Given the description of an element on the screen output the (x, y) to click on. 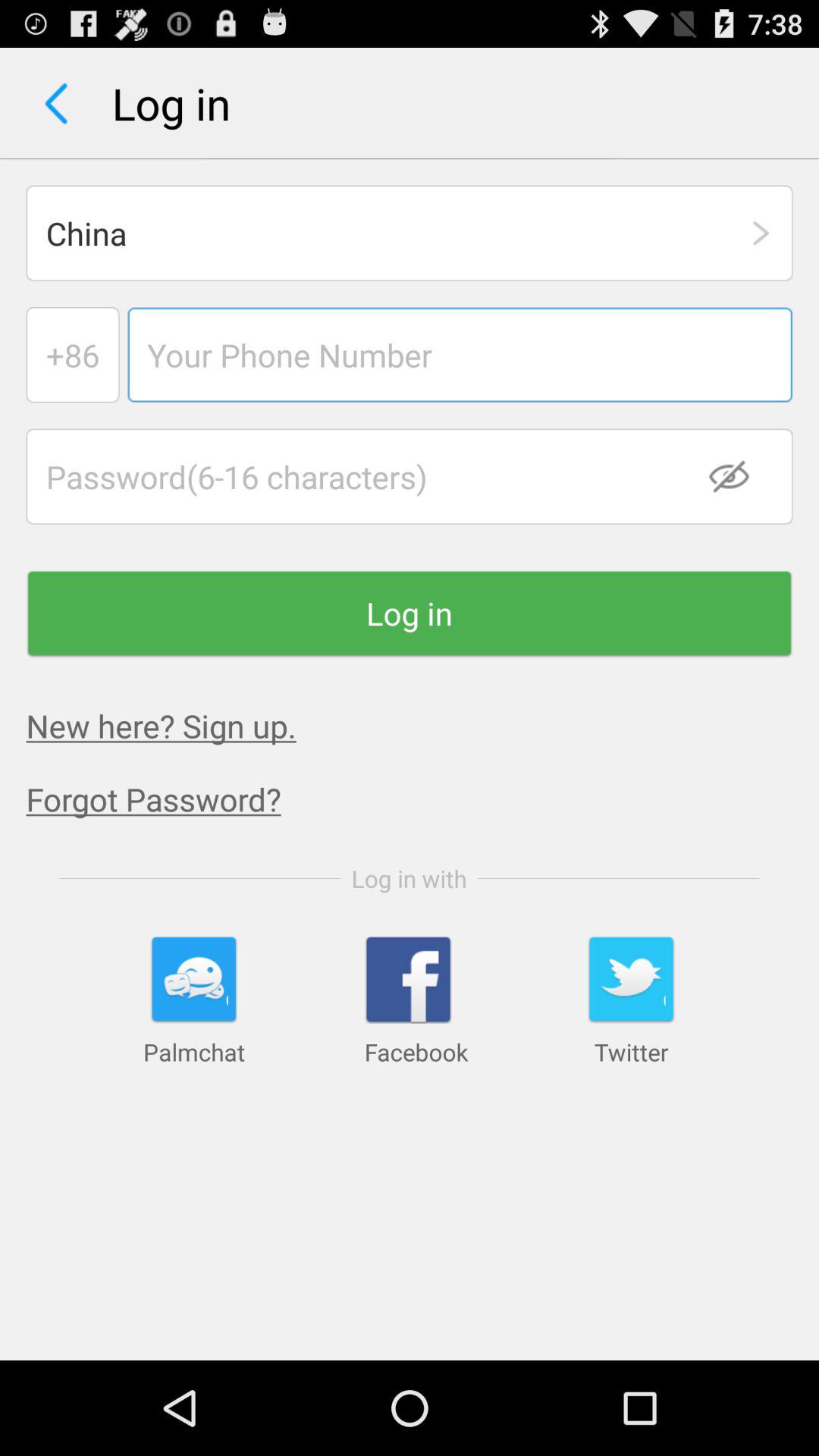
choose the icon to the left of log in (56, 103)
